Given the description of an element on the screen output the (x, y) to click on. 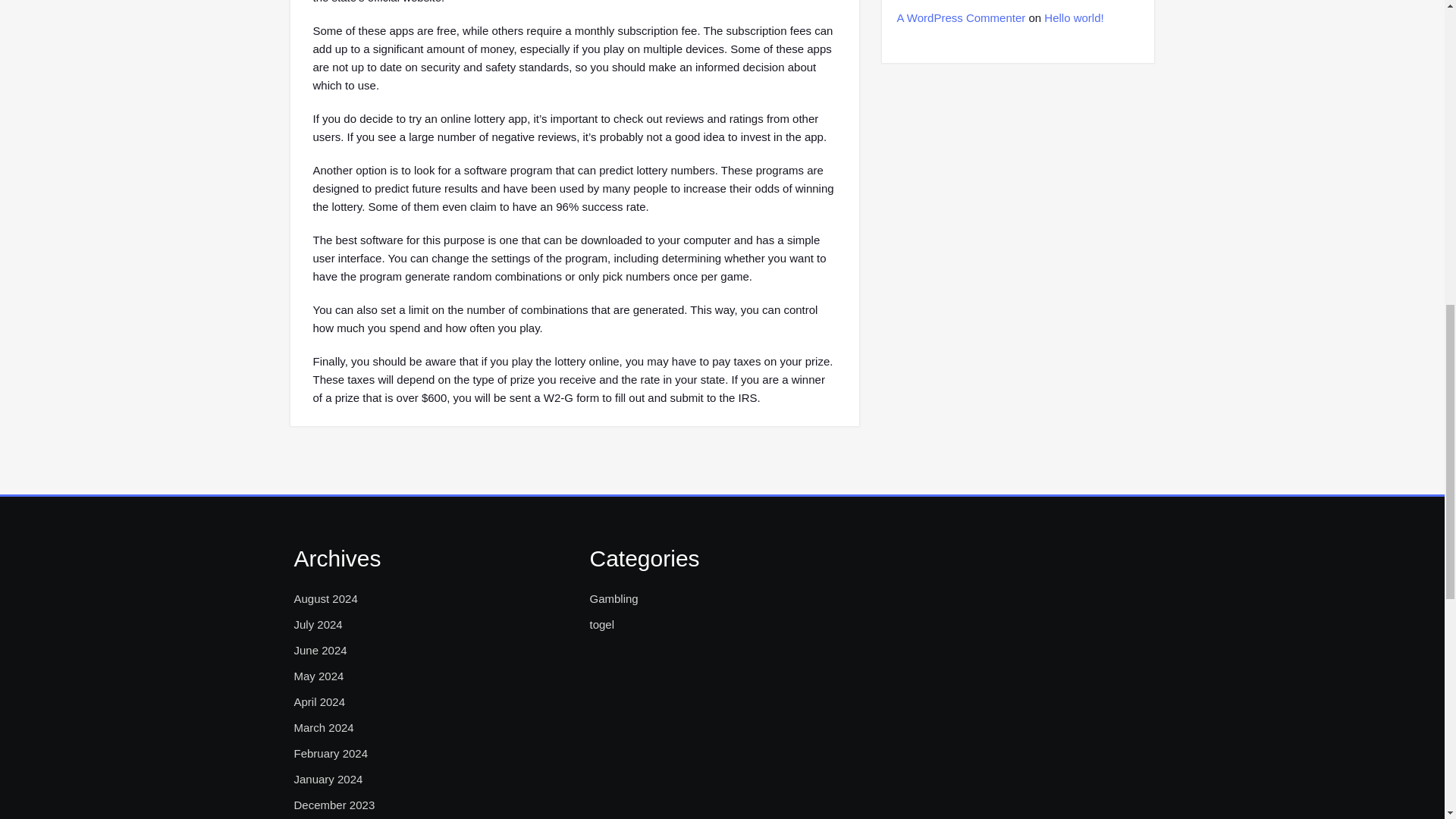
A WordPress Commenter (960, 17)
January 2024 (328, 779)
June 2024 (320, 650)
March 2024 (323, 728)
May 2024 (318, 676)
December 2023 (334, 805)
August 2024 (326, 598)
February 2024 (331, 753)
Hello world! (1073, 17)
April 2024 (320, 701)
July 2024 (318, 624)
